Given the description of an element on the screen output the (x, y) to click on. 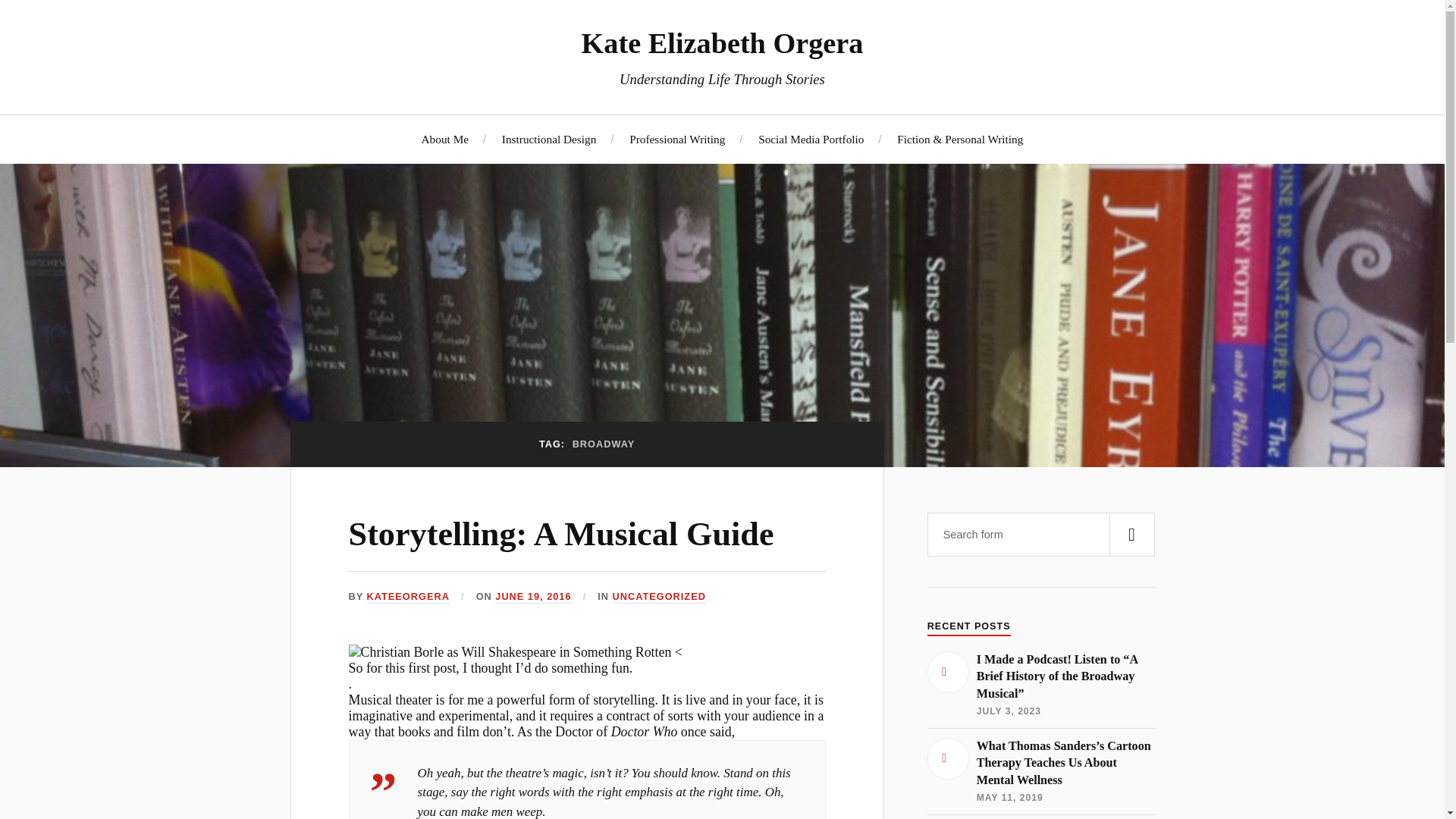
JUNE 19, 2016 (532, 596)
Posts by kateeorgera (407, 596)
Instructional Design (548, 138)
KATEEORGERA (407, 596)
Kate Elizabeth Orgera (721, 42)
Professional Writing (676, 138)
About Me (445, 138)
Storytelling: A Musical Guide (561, 533)
Social Media Portfolio (810, 138)
UNCATEGORIZED (659, 596)
